Given the description of an element on the screen output the (x, y) to click on. 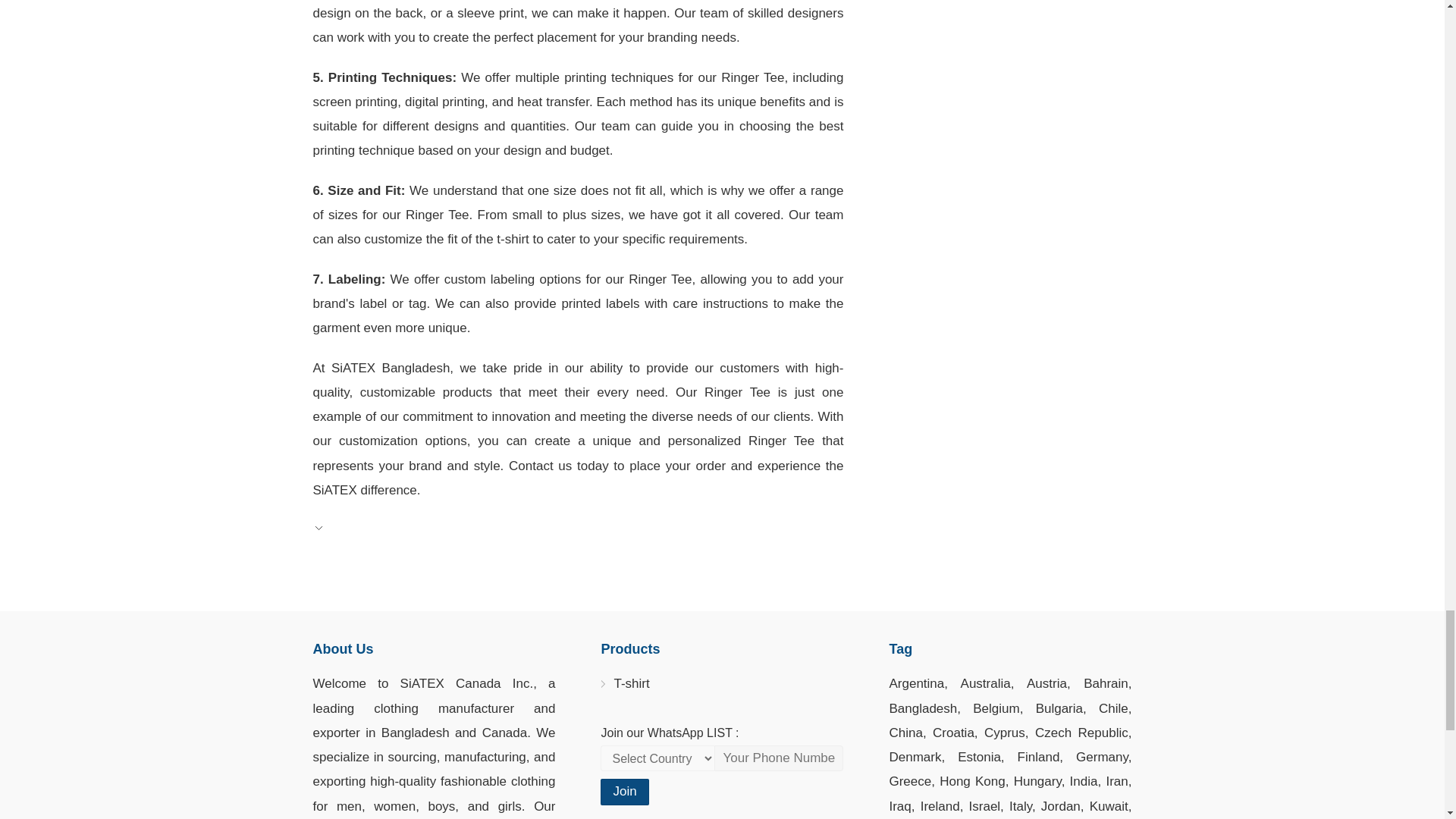
Join (623, 791)
clothing manufacturer and exporter in Bangladesh and Canada (433, 720)
T-shirt (630, 683)
